Given the description of an element on the screen output the (x, y) to click on. 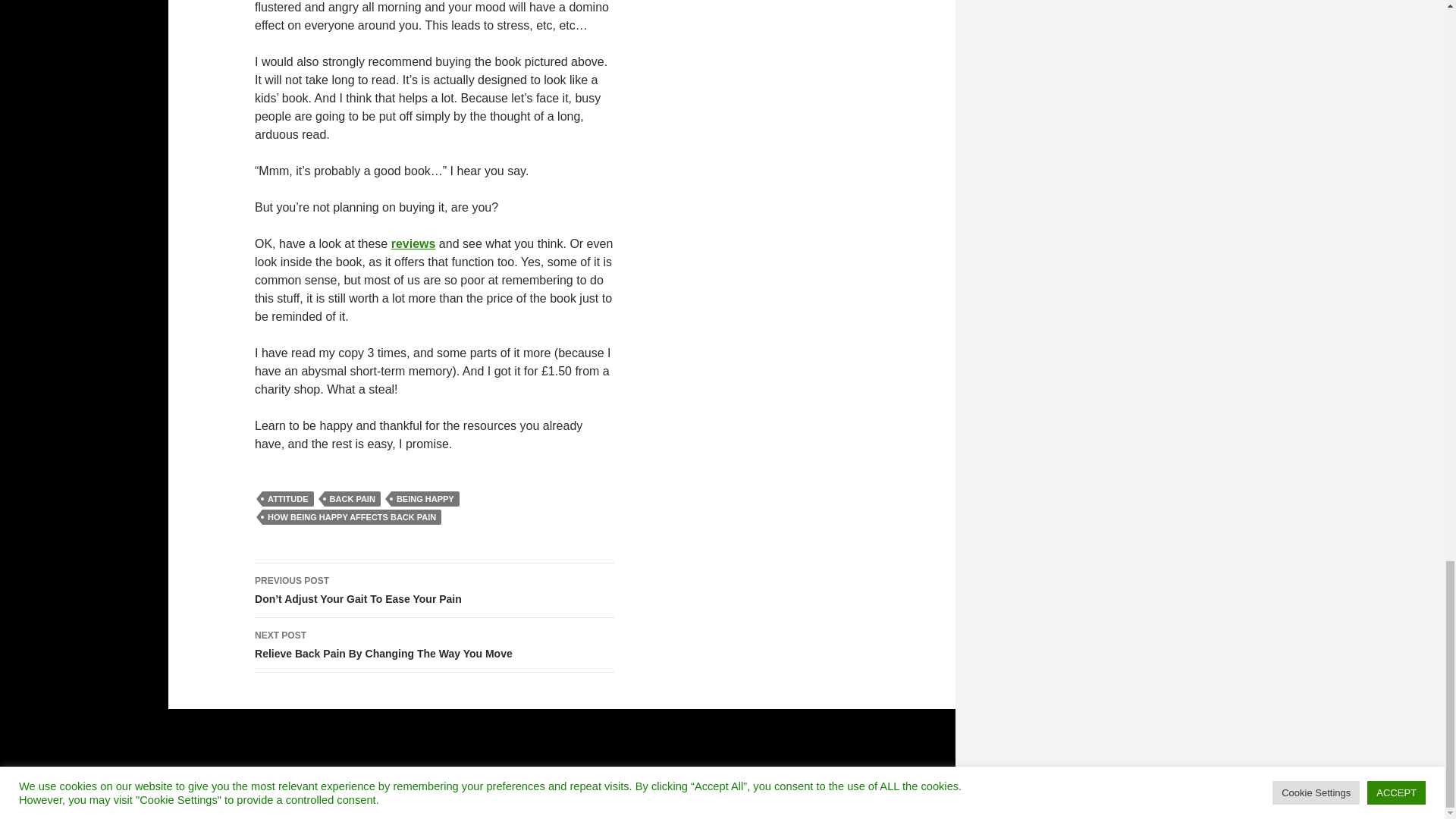
BACK PAIN (434, 645)
ATTITUDE (352, 498)
reviews (288, 498)
BEING HAPPY (413, 243)
HOW BEING HAPPY AFFECTS BACK PAIN (425, 498)
